Given the description of an element on the screen output the (x, y) to click on. 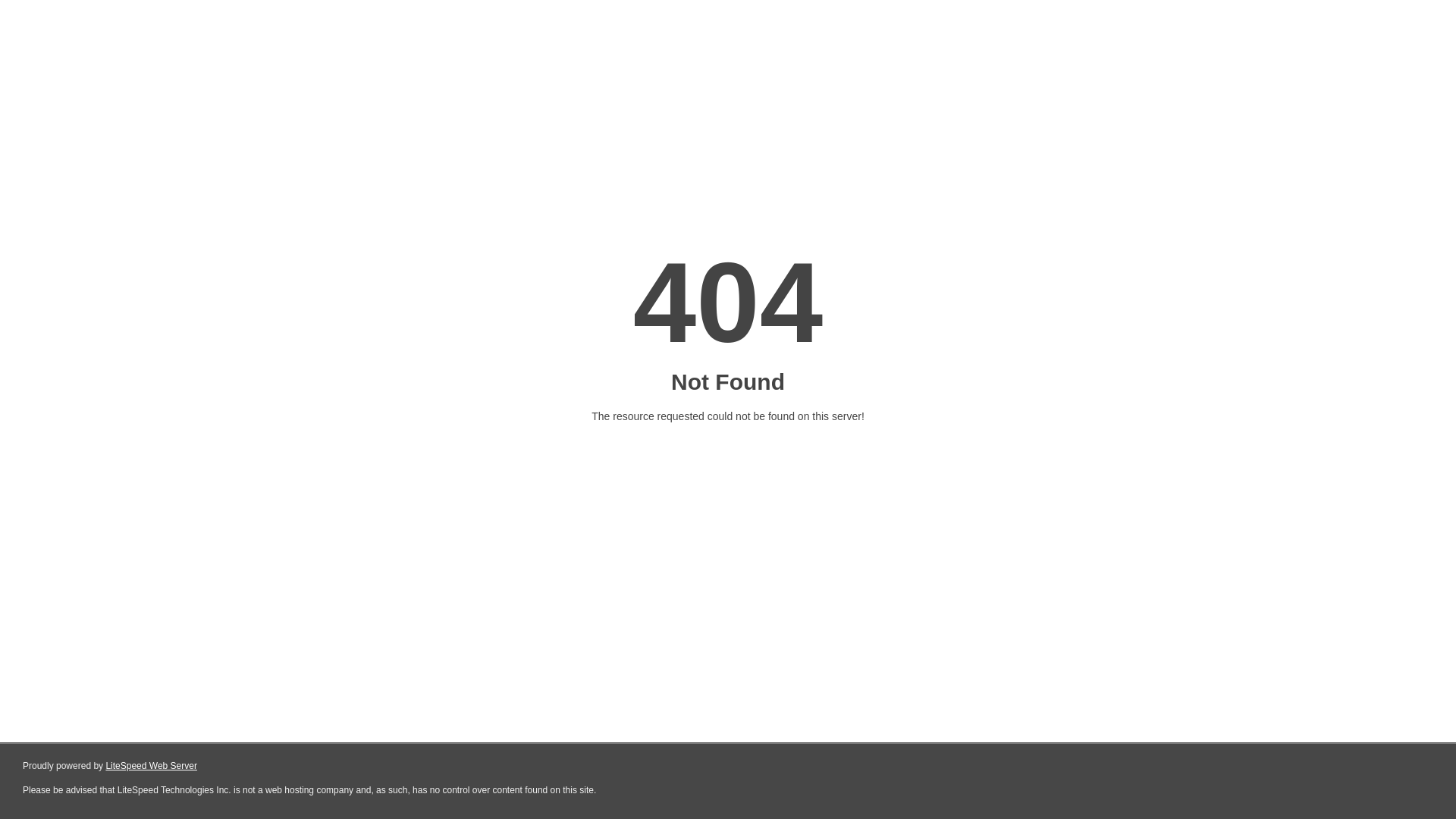
LiteSpeed Web Server Element type: text (151, 765)
